Given the description of an element on the screen output the (x, y) to click on. 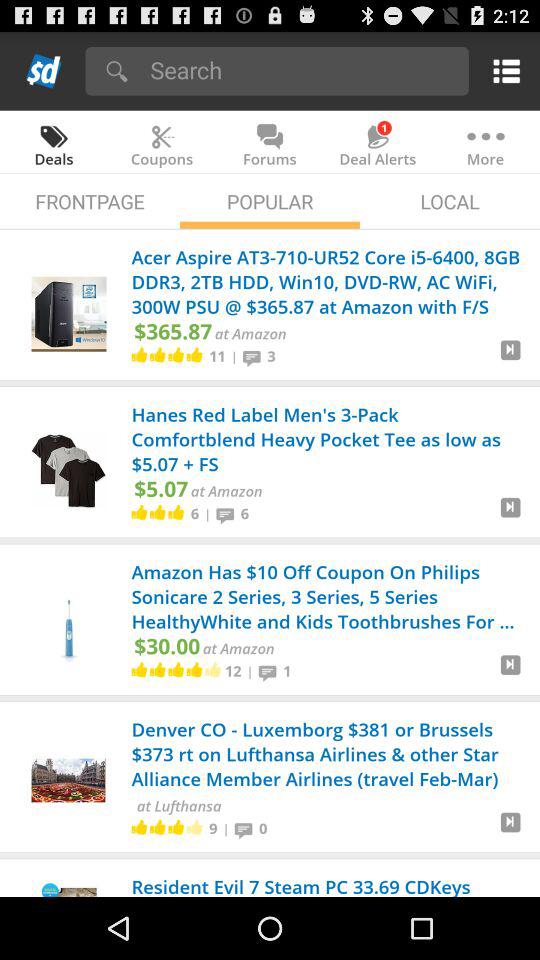
select denver co luxemborg item (328, 755)
